Given the description of an element on the screen output the (x, y) to click on. 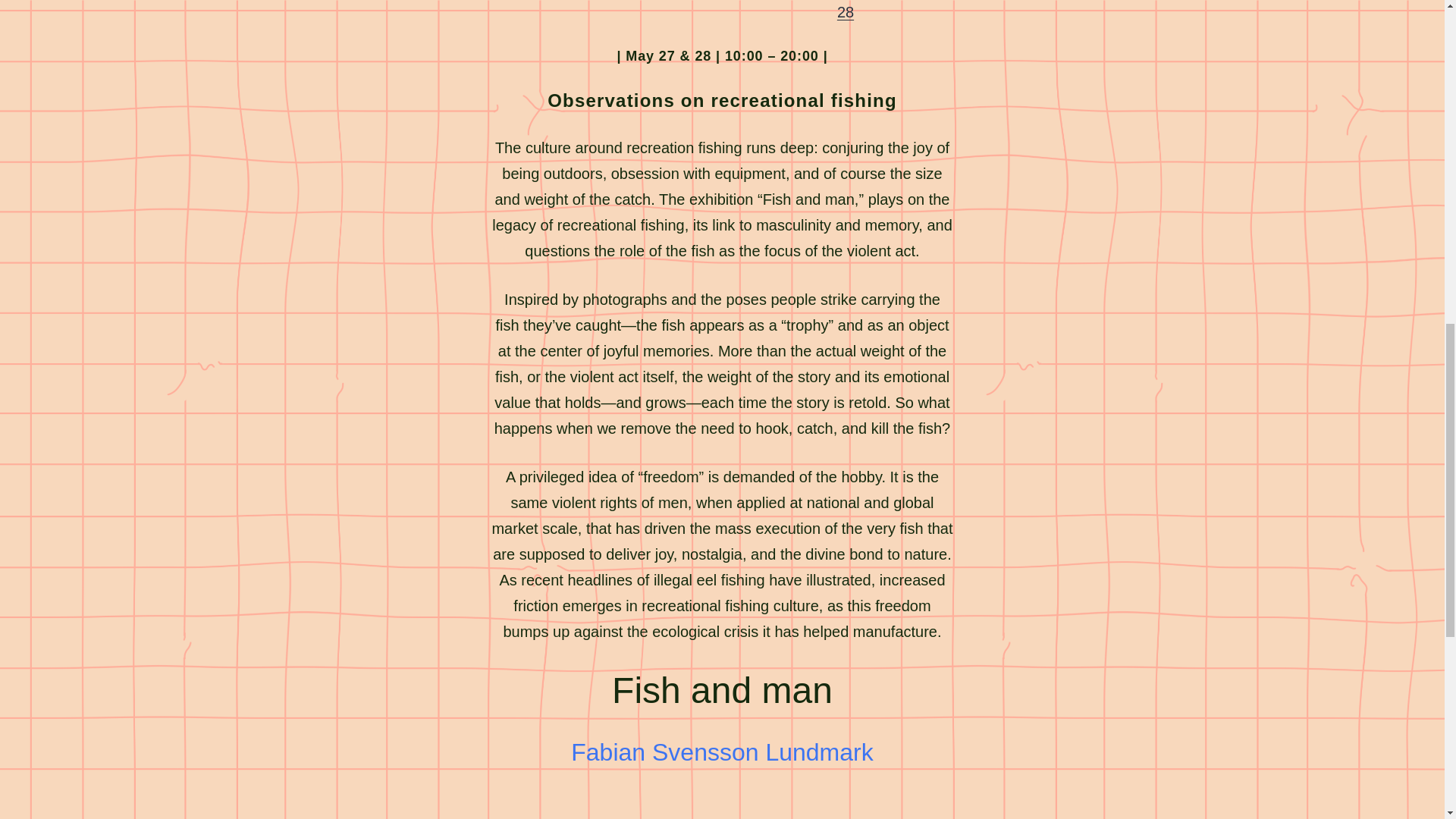
Sunday, May 28 (894, 10)
